Given the description of an element on the screen output the (x, y) to click on. 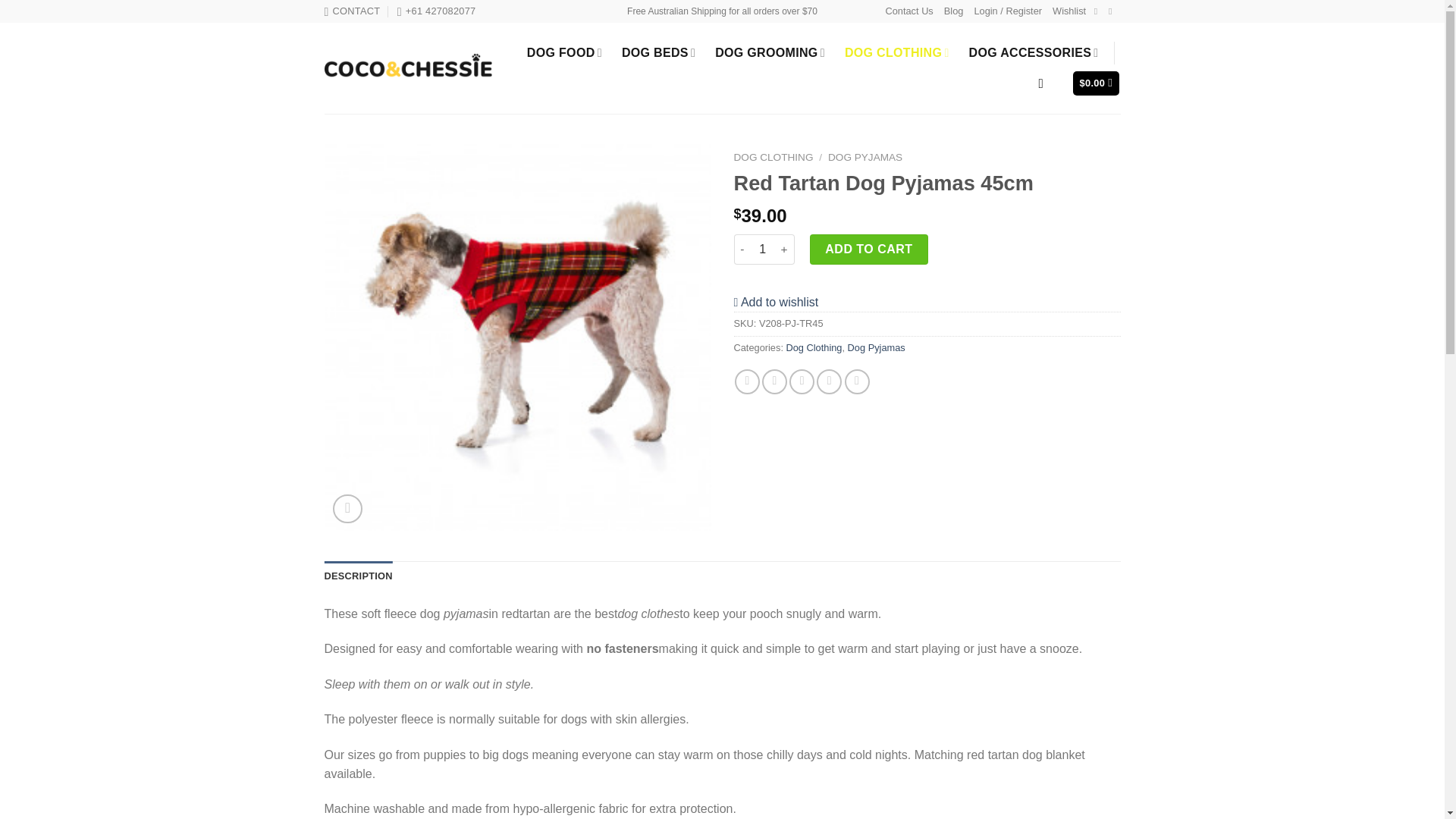
DOG GROOMING (769, 52)
DOG FOOD (564, 52)
DOG BEDS (658, 52)
Share on Facebook (747, 381)
Wishlist (1069, 11)
Contact Us (909, 11)
DOG ACCESSORIES (1034, 52)
Zoom (347, 509)
CONTACT (352, 11)
Cart (1096, 83)
